Given the description of an element on the screen output the (x, y) to click on. 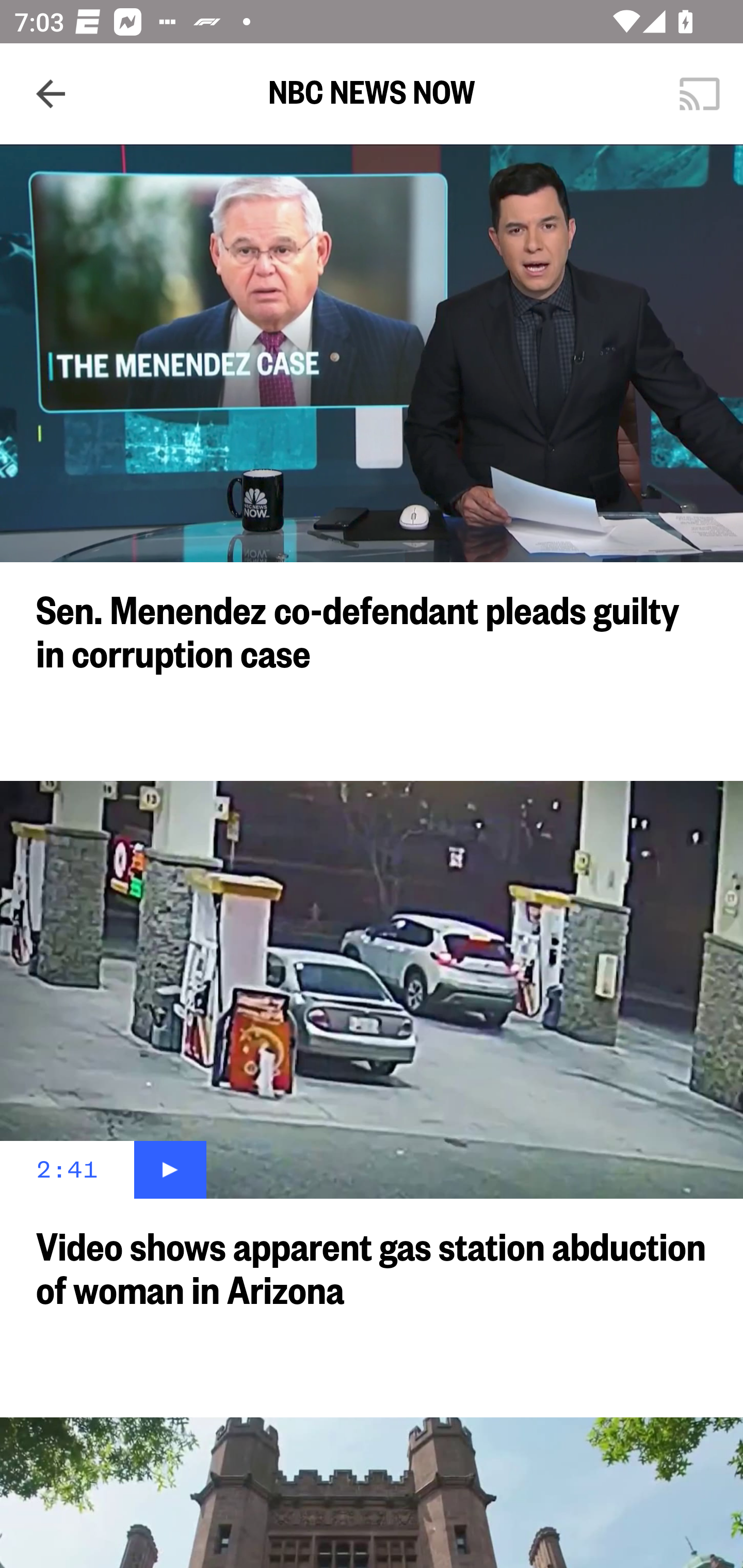
Navigate up (50, 93)
Cast. Disconnected (699, 93)
